Given the description of an element on the screen output the (x, y) to click on. 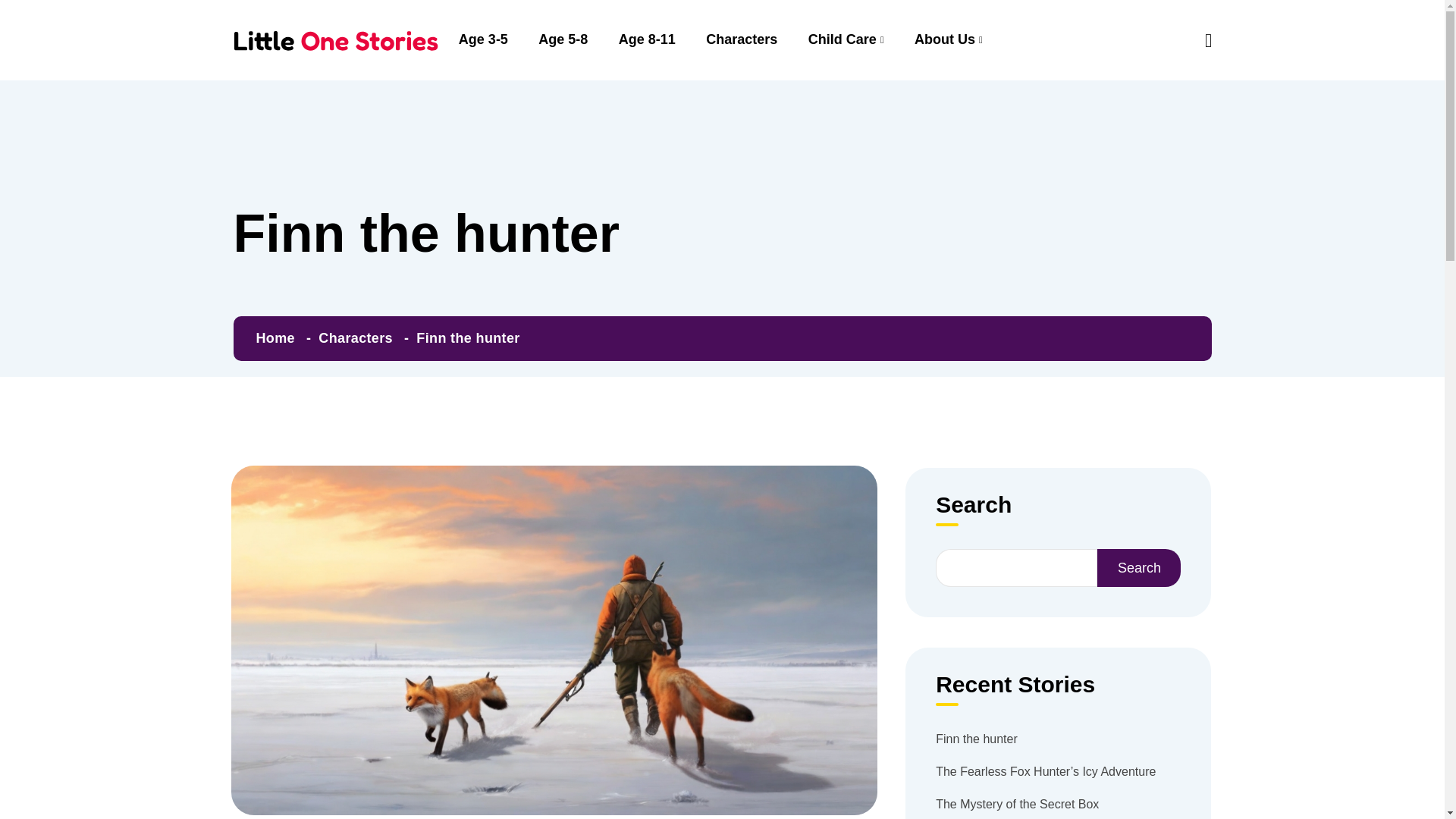
Home (275, 337)
Characters (741, 39)
Child Care (845, 40)
Characters (355, 337)
